Given the description of an element on the screen output the (x, y) to click on. 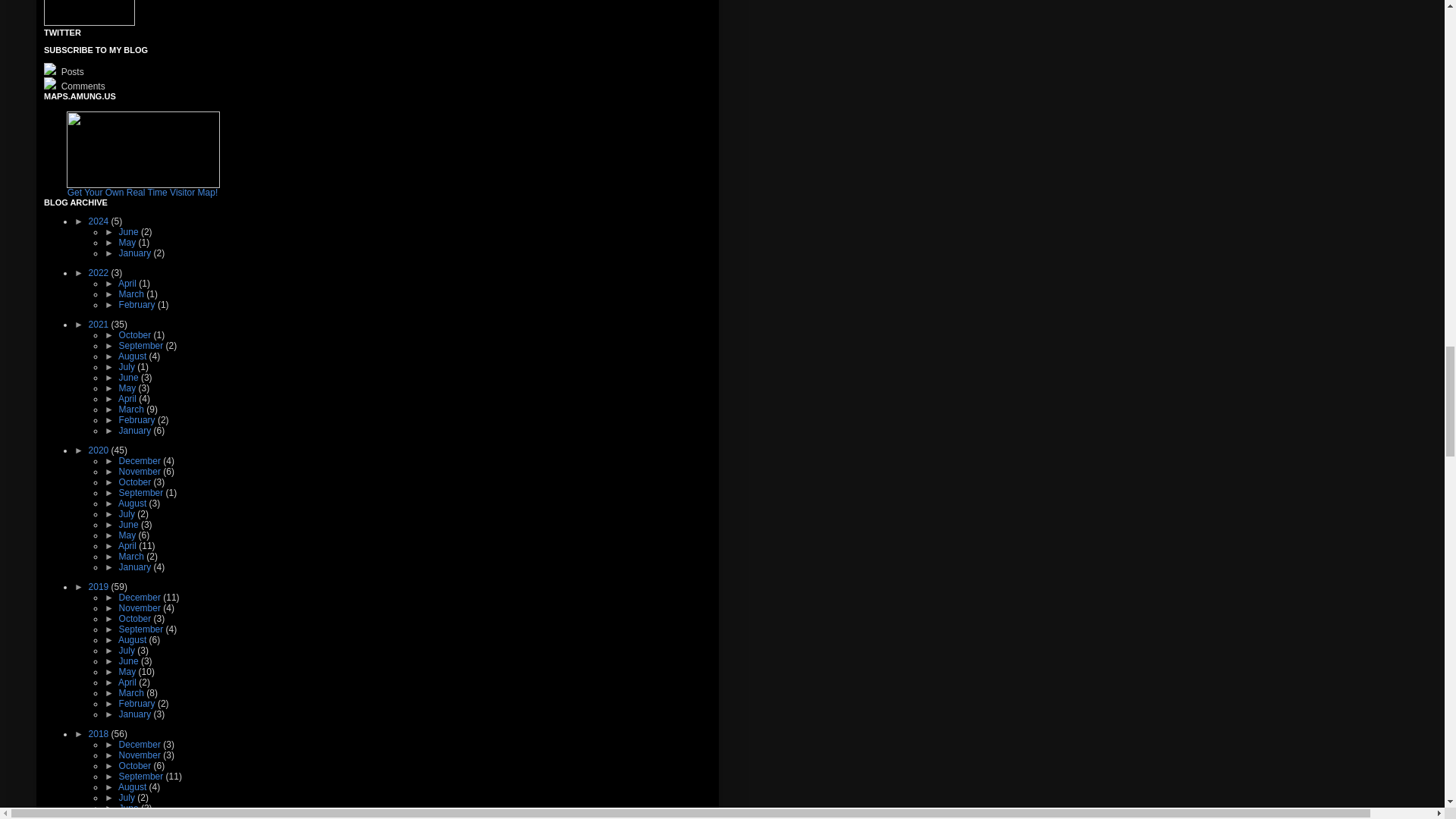
Dean Collins (89, 22)
